Given the description of an element on the screen output the (x, y) to click on. 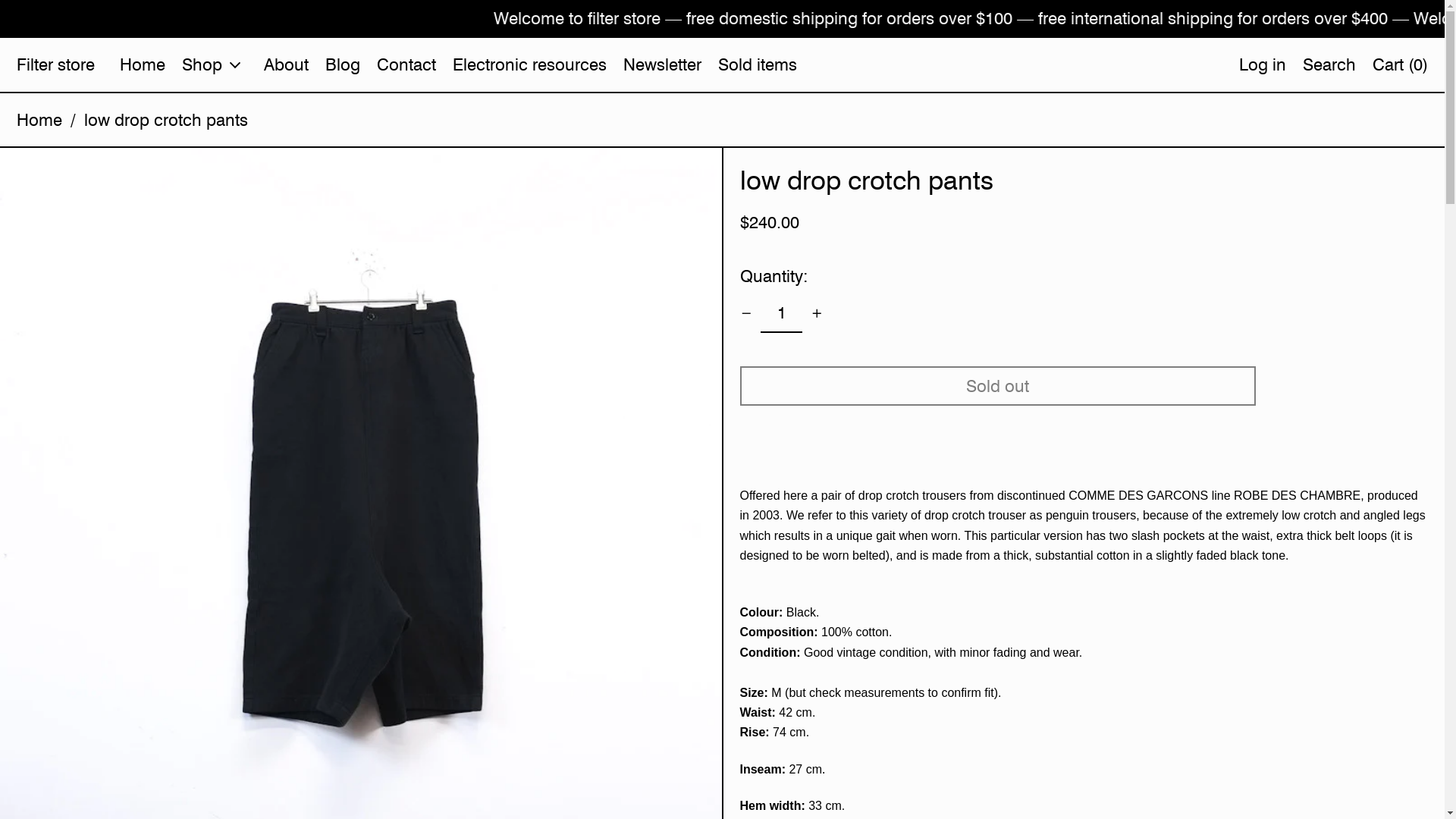
Filter store Element type: text (55, 64)
Home Element type: text (142, 64)
Sold items Element type: text (757, 64)
Sold out Element type: text (998, 385)
Contact Element type: text (406, 64)
Home Element type: text (39, 119)
Log in Element type: text (1262, 64)
Newsletter Element type: text (662, 64)
About Element type: text (285, 64)
Blog Element type: text (342, 64)
low drop crotch pants Element type: text (165, 119)
Cart (0) Element type: text (1399, 64)
Electronic resources Element type: text (529, 64)
Search Element type: text (1328, 64)
Shop Element type: text (214, 64)
